Given the description of an element on the screen output the (x, y) to click on. 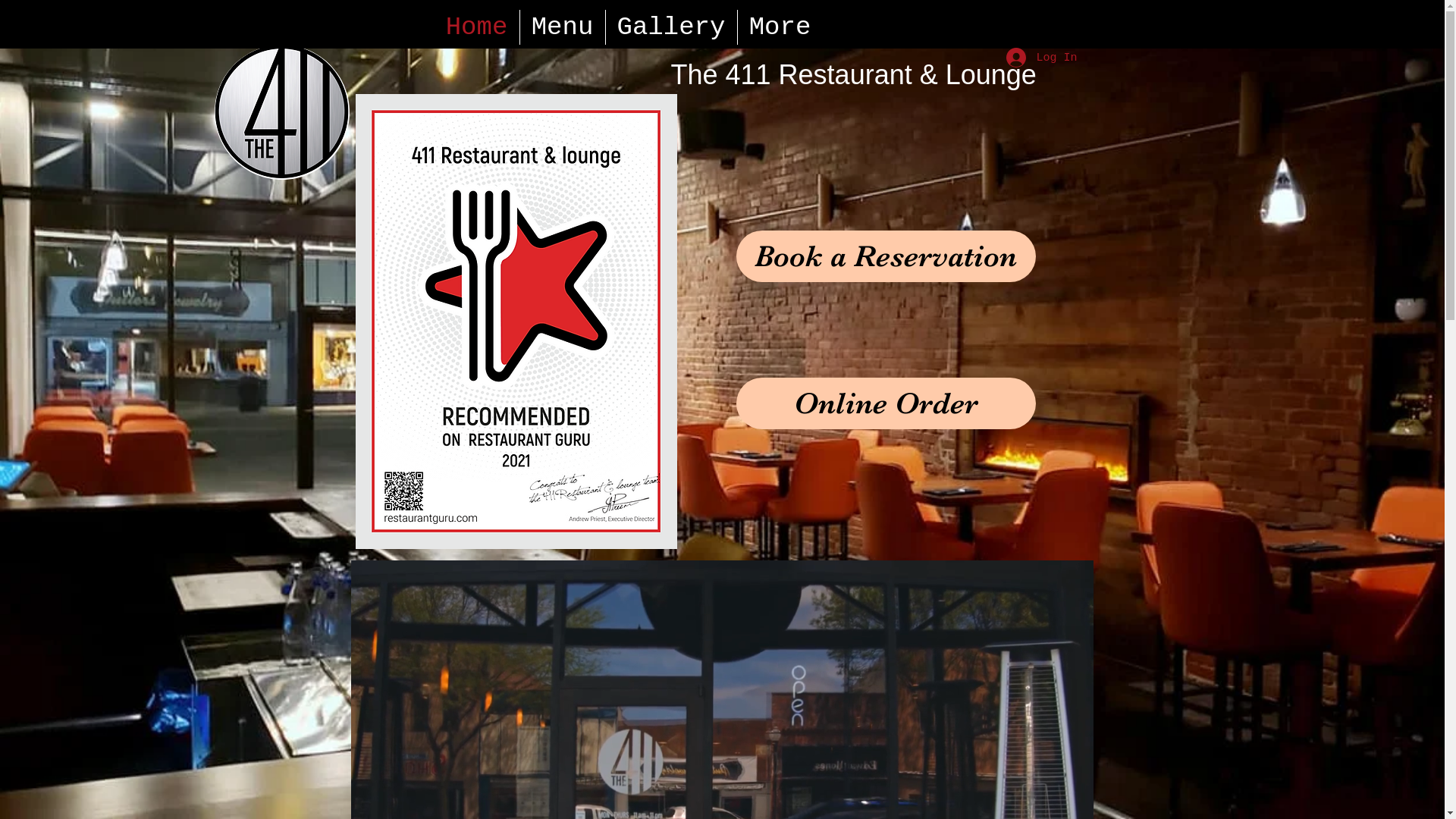
Home Element type: text (475, 26)
Gallery Element type: text (670, 26)
RestaurantGuru_Certificate1 (1).png Element type: hover (515, 321)
Log In Element type: text (1039, 57)
Menu Element type: text (562, 26)
Book a Reservation Element type: text (885, 256)
Online Order Element type: text (885, 403)
